Given the description of an element on the screen output the (x, y) to click on. 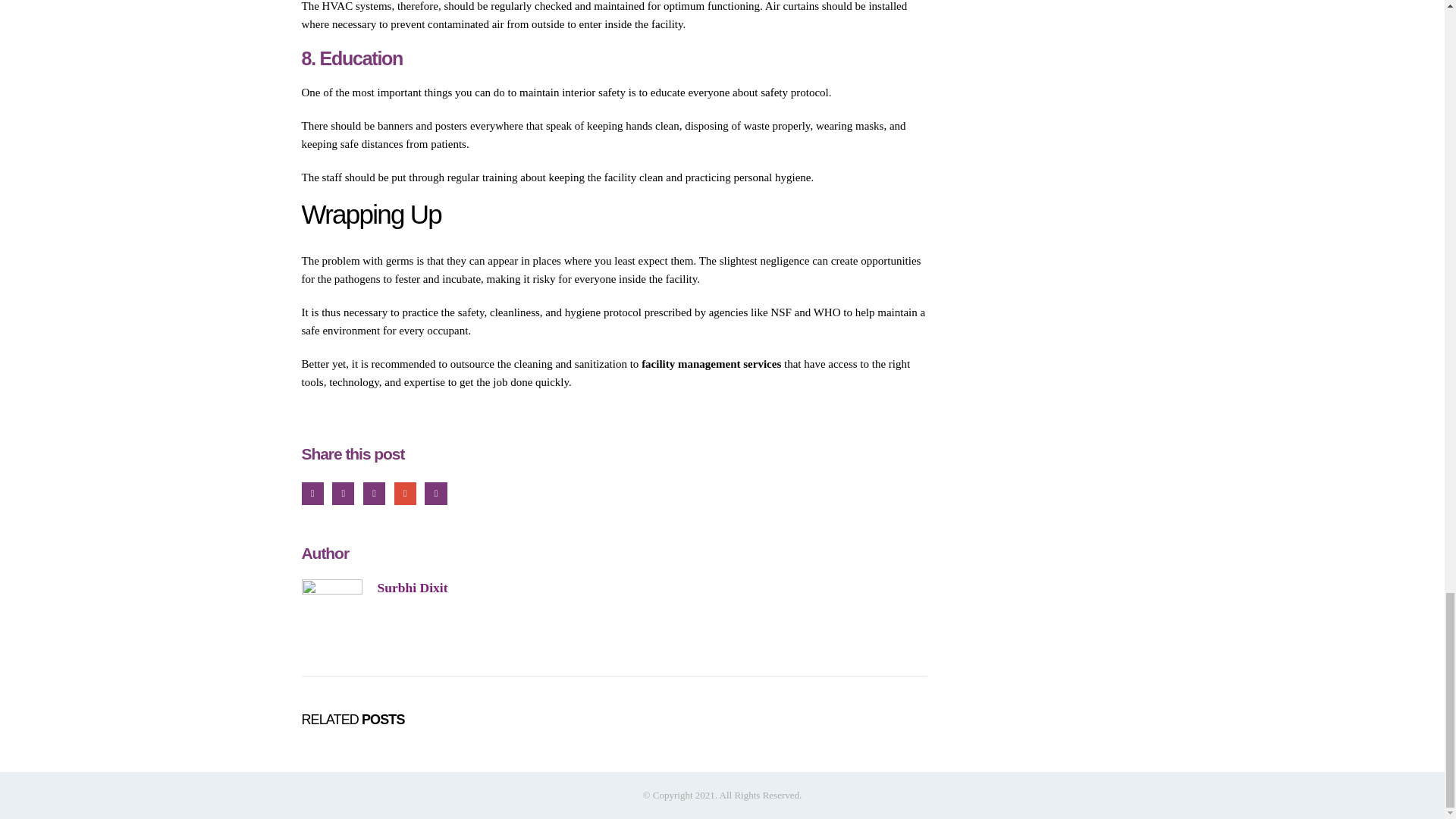
LinkedIn (373, 493)
LinkedIn (373, 493)
Twitter (342, 493)
Facebook (312, 493)
Facebook (312, 493)
Email (435, 493)
Surbhi Dixit (412, 586)
Posts by Surbhi Dixit (412, 586)
Twitter (342, 493)
Email (435, 493)
